Given the description of an element on the screen output the (x, y) to click on. 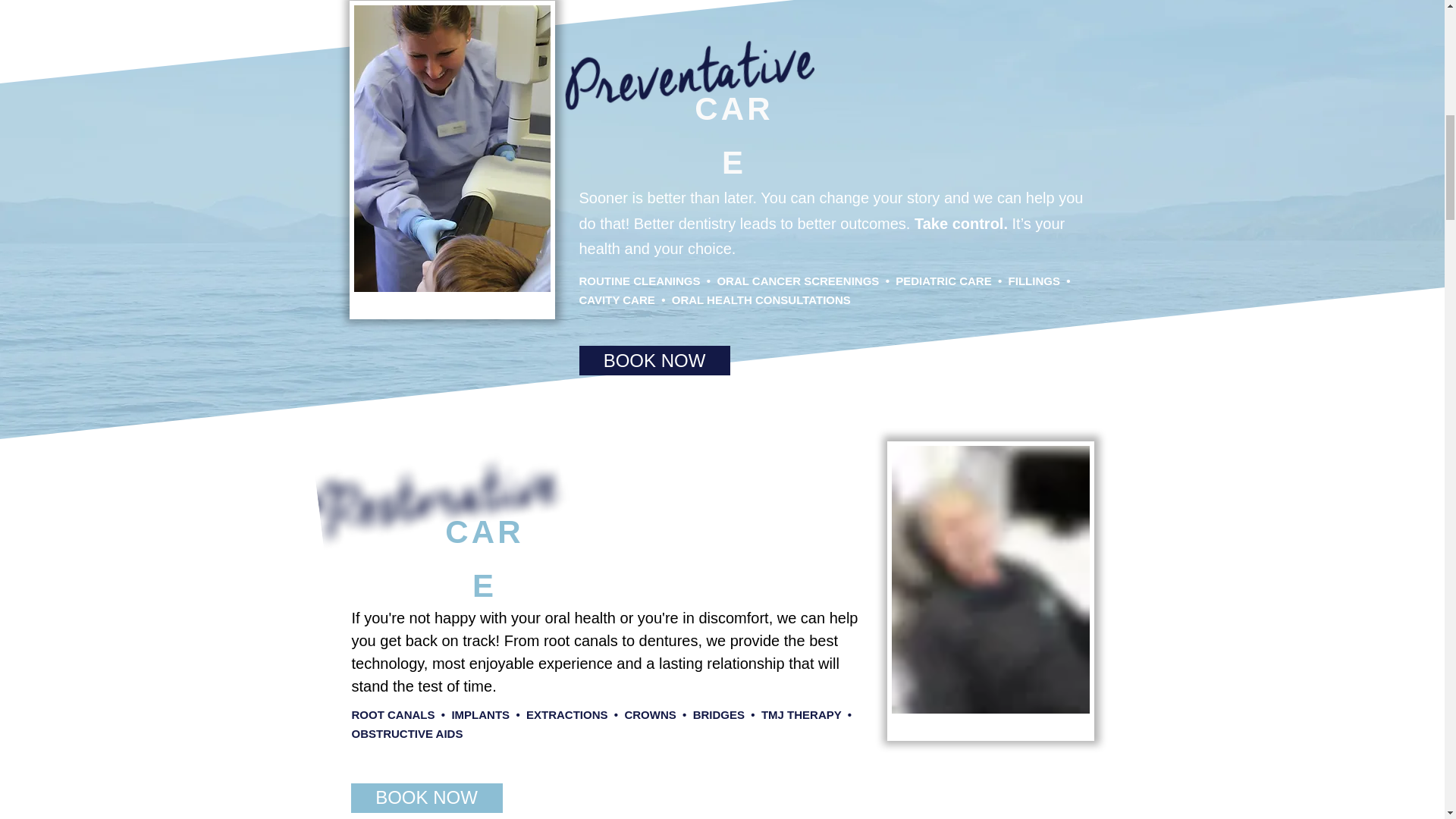
BOOK NOW (654, 360)
BOOK NOW (426, 797)
Restorative TEXT.png (437, 481)
